Given the description of an element on the screen output the (x, y) to click on. 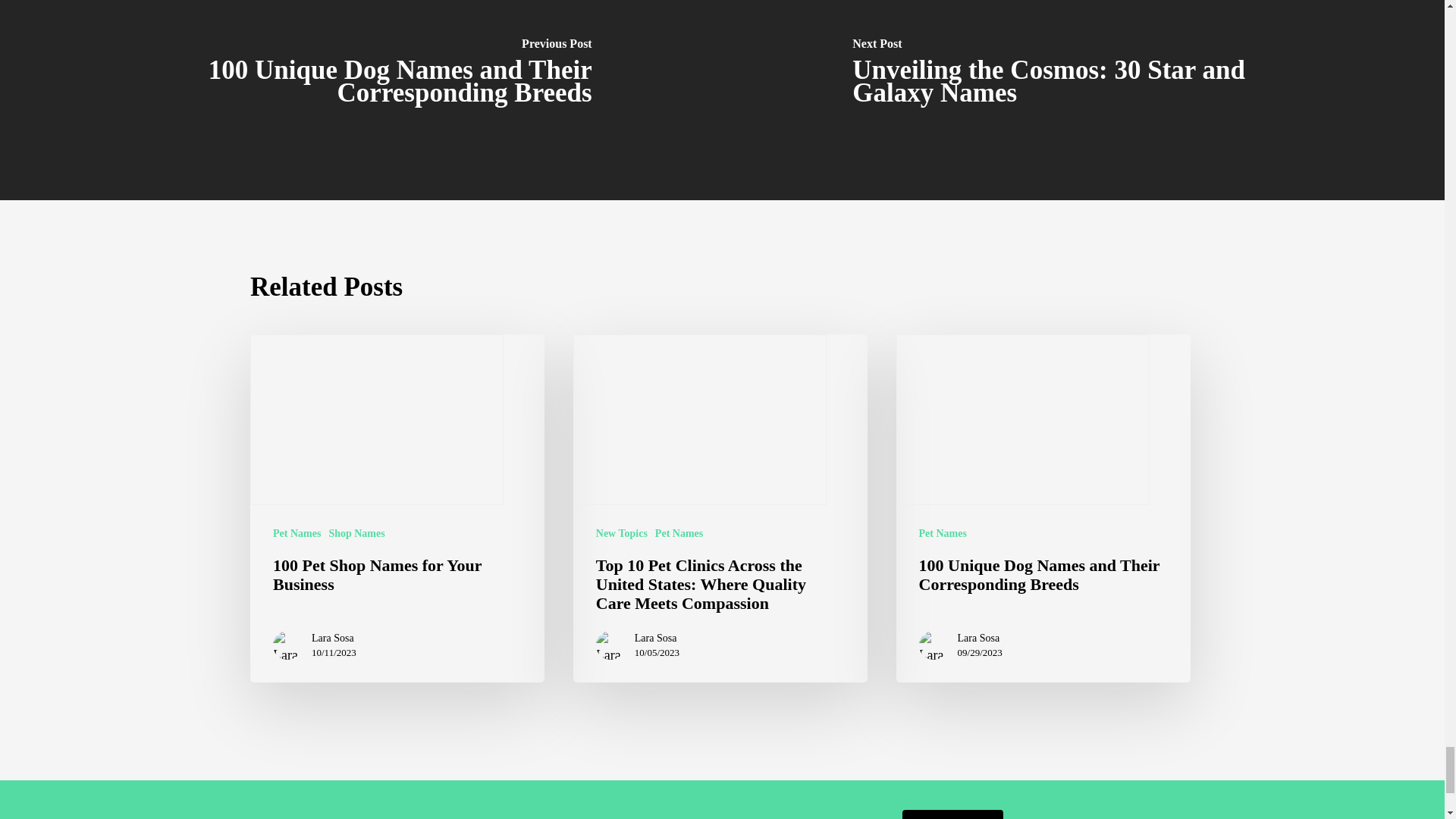
New Topics (621, 533)
Pet Names (296, 533)
Pet Names (942, 533)
Lara Sosa (333, 638)
Lara Sosa (656, 638)
Pet Names (679, 533)
Shop Names (356, 533)
